Given the description of an element on the screen output the (x, y) to click on. 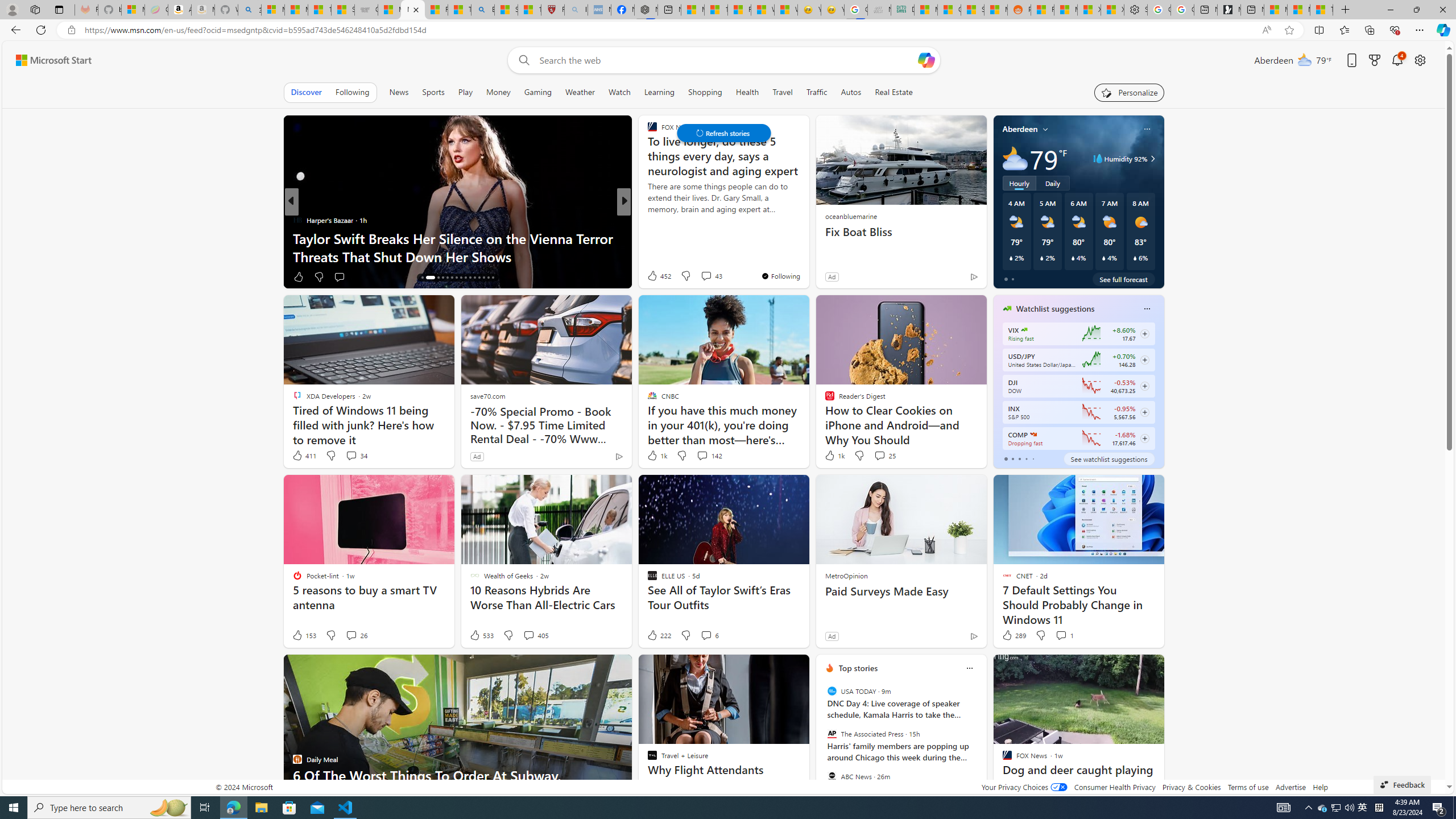
View comments 26 Comment (350, 635)
Daily (1052, 183)
tab-4 (1032, 458)
Work From Home With Surveys (457, 256)
452 Like (658, 275)
72 Like (652, 276)
View comments 197 Comment (703, 276)
Fitness - MSN (738, 9)
Hourly (1018, 183)
Consumer Health Privacy (1115, 786)
